Given the description of an element on the screen output the (x, y) to click on. 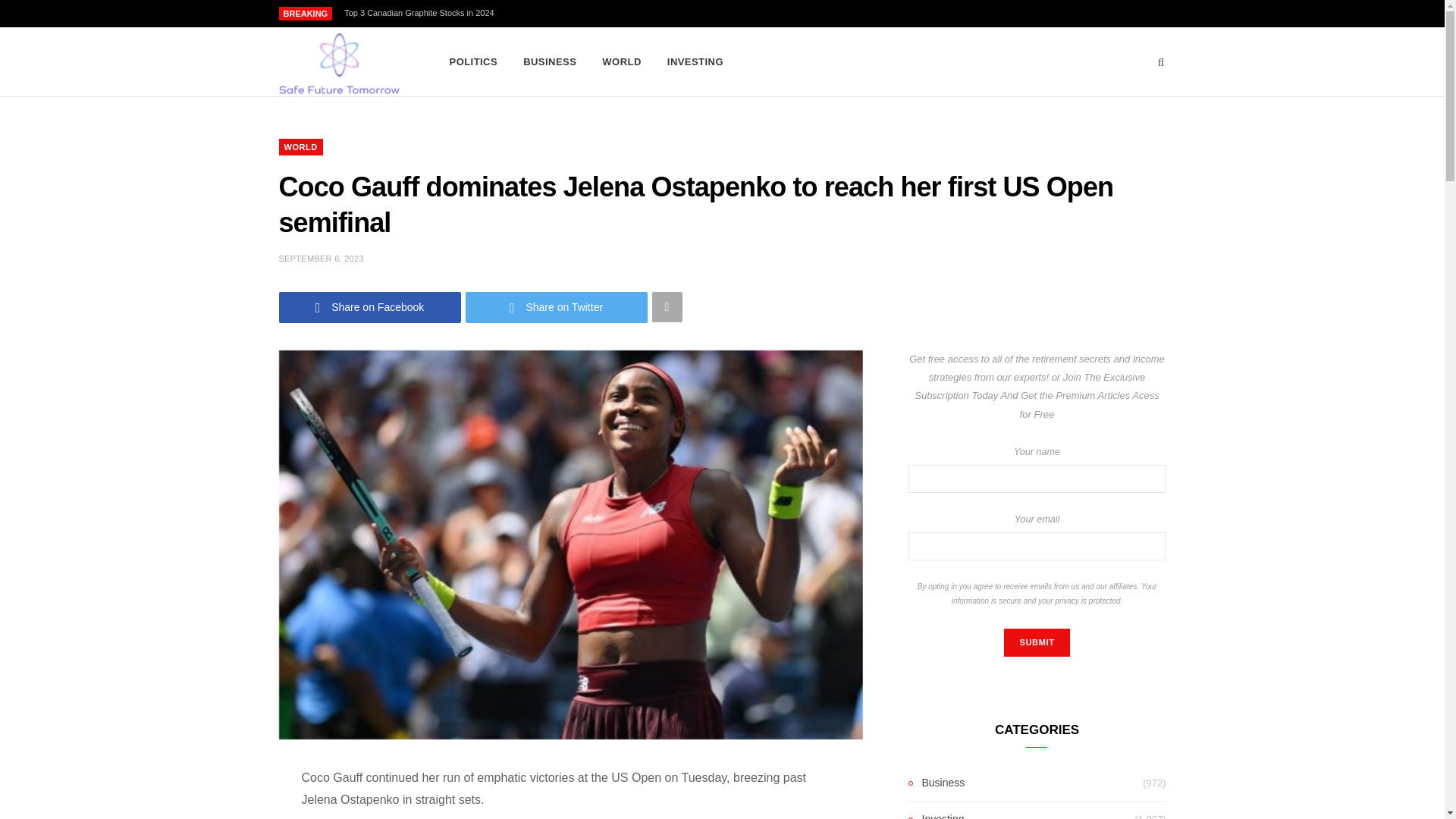
BUSINESS (550, 61)
Share on Facebook (370, 306)
INVESTING (695, 61)
POLITICS (473, 61)
Top 3 Canadian Graphite Stocks in 2024 (422, 12)
Share on Facebook (370, 306)
Search (1161, 61)
Top 3 Canadian Graphite Stocks in 2024 (422, 12)
Share on Twitter (556, 306)
Safe Future Tomorrow (338, 61)
Submit (1036, 642)
WORLD (621, 61)
WORLD (301, 146)
SEPTEMBER 6, 2023 (321, 257)
Share on Twitter (556, 306)
